Given the description of an element on the screen output the (x, y) to click on. 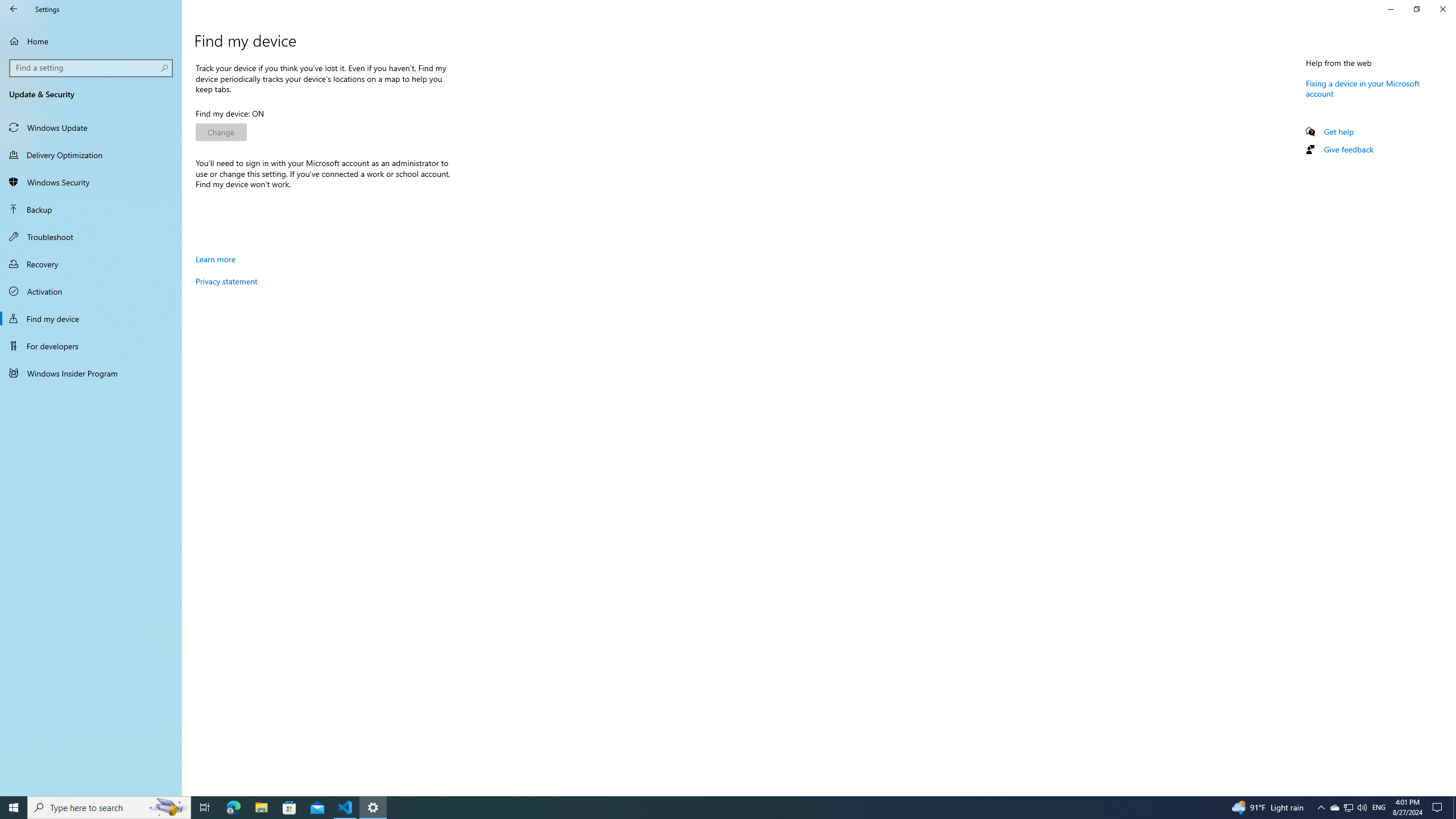
Learn more (215, 258)
For developers (91, 345)
Windows Update (91, 126)
Change (221, 131)
Recovery (91, 263)
